Given the description of an element on the screen output the (x, y) to click on. 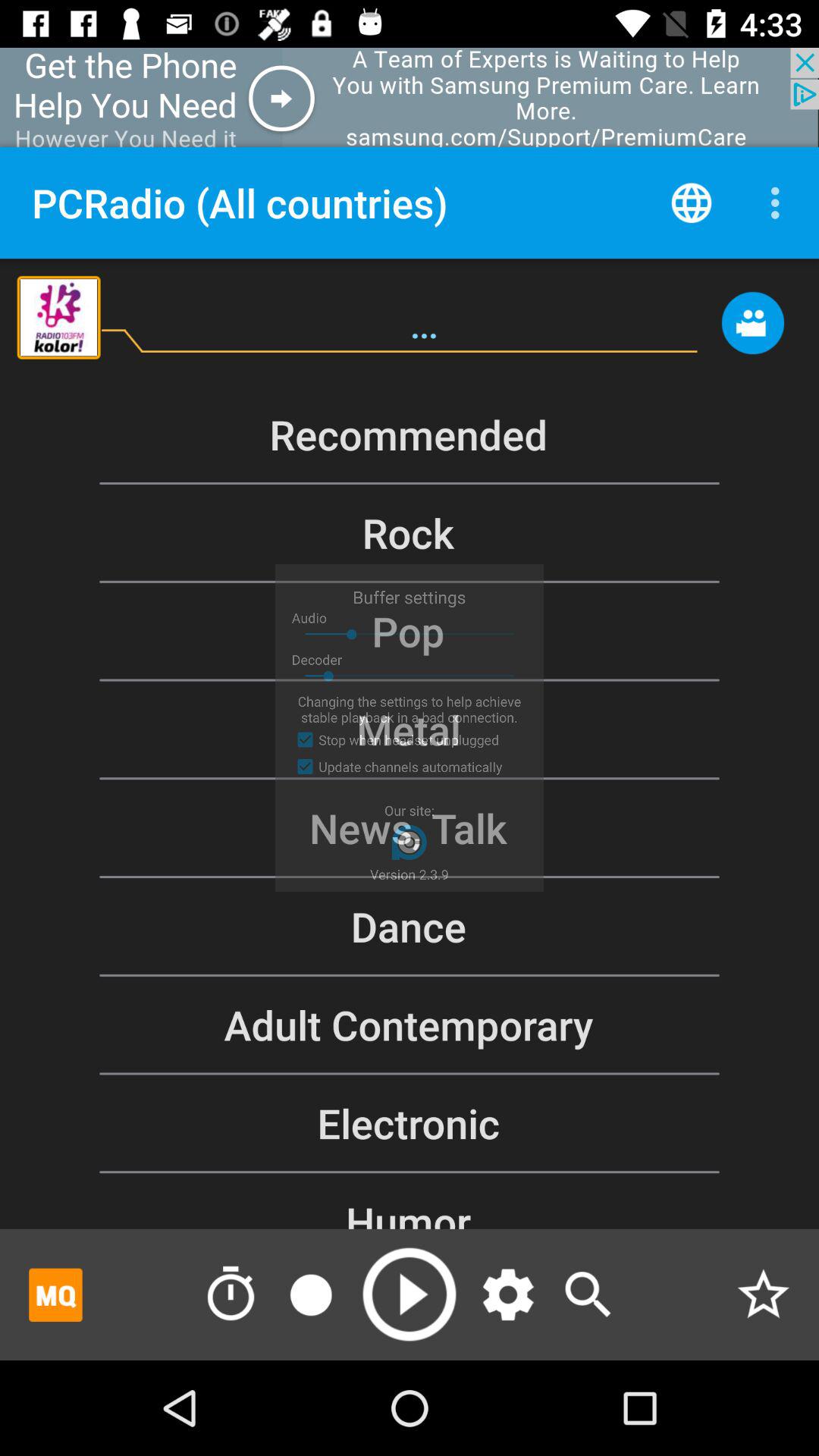
pause option (310, 1294)
